Given the description of an element on the screen output the (x, y) to click on. 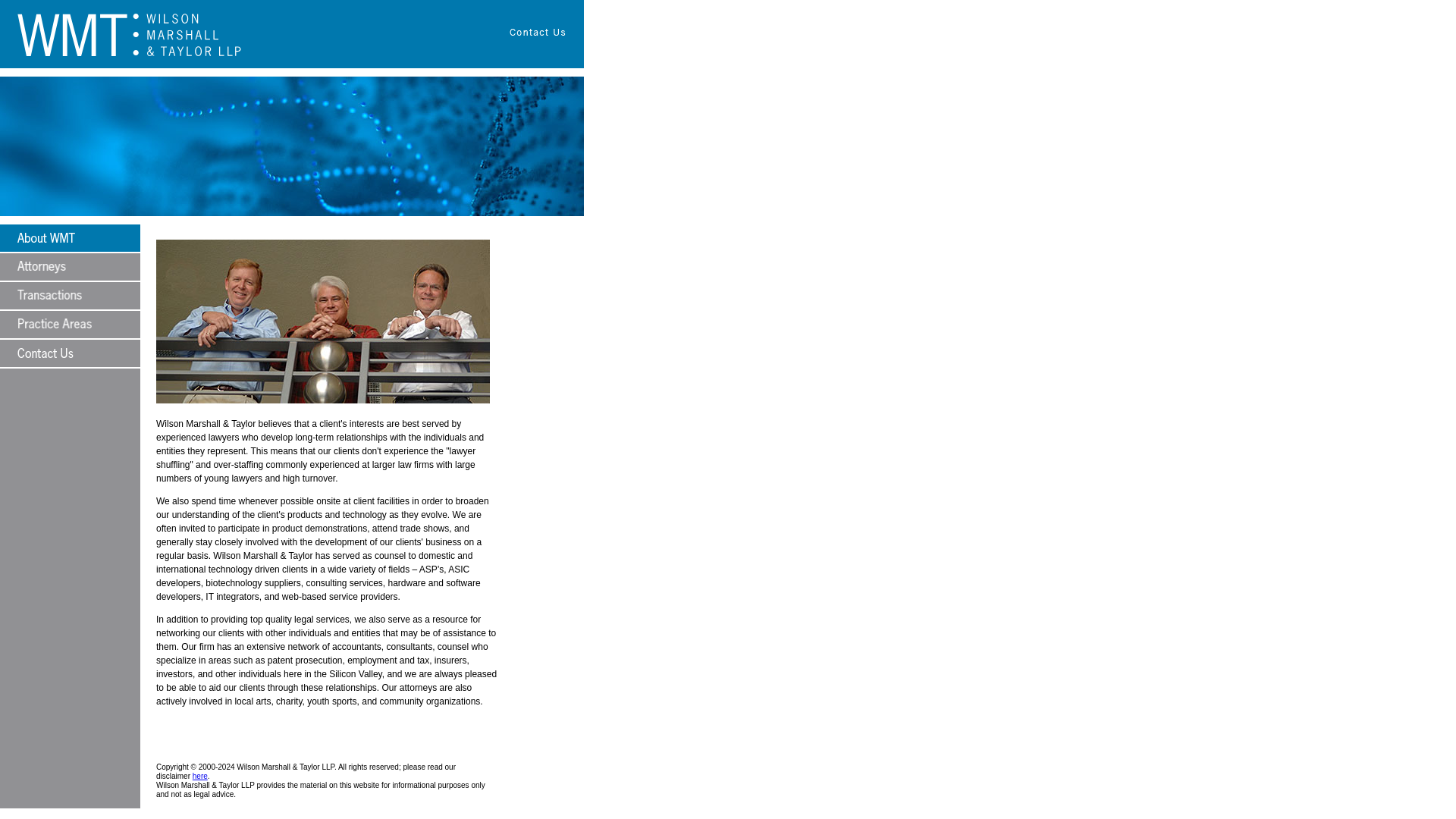
here (200, 776)
